Given the description of an element on the screen output the (x, y) to click on. 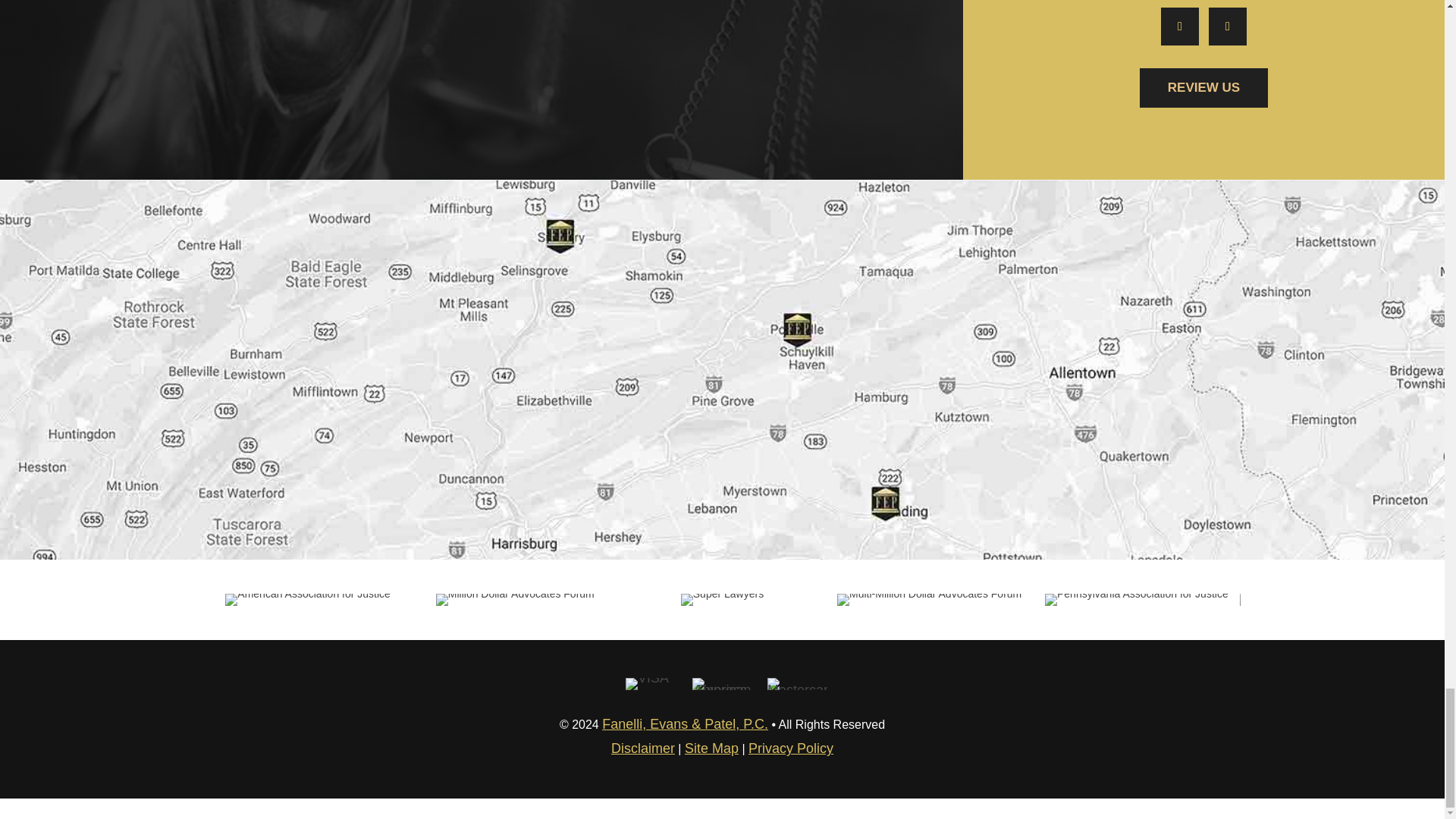
Follow on Facebook (1179, 26)
Follow on LinkedIn (1227, 26)
